Given the description of an element on the screen output the (x, y) to click on. 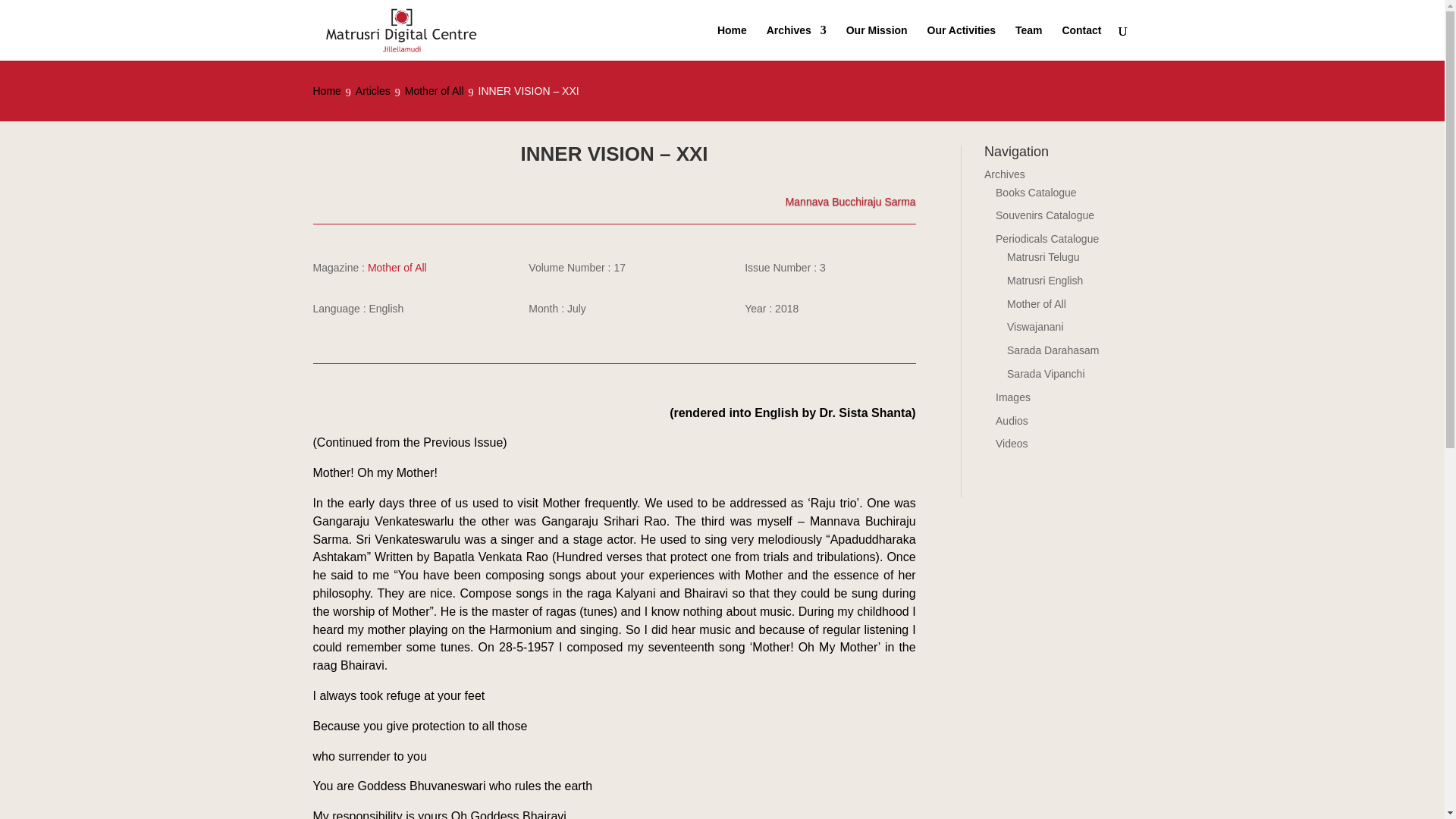
Archives (797, 42)
Our Mission (876, 42)
Contact (1080, 42)
Our Activities (961, 42)
